Given the description of an element on the screen output the (x, y) to click on. 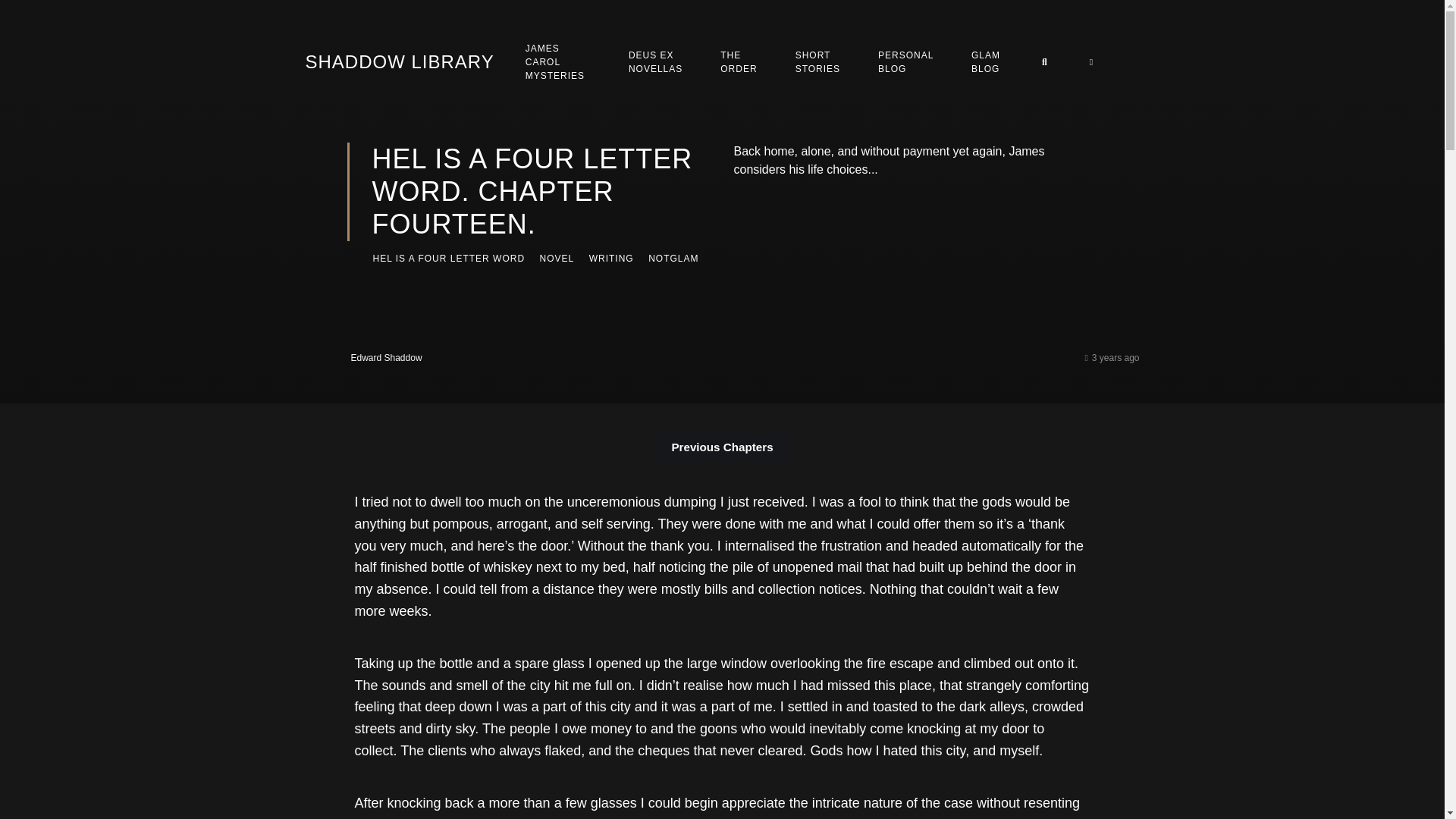
DEUS EX NOVELLAS (655, 61)
SHORT STORIES (817, 61)
GLAM BLOG (985, 61)
PERSONAL BLOG (905, 61)
Previous Chapters (722, 447)
SHADDOW LIBRARY (398, 62)
THE ORDER (738, 61)
JAMES CAROL MYSTERIES (558, 62)
alternate (1089, 62)
